Given the description of an element on the screen output the (x, y) to click on. 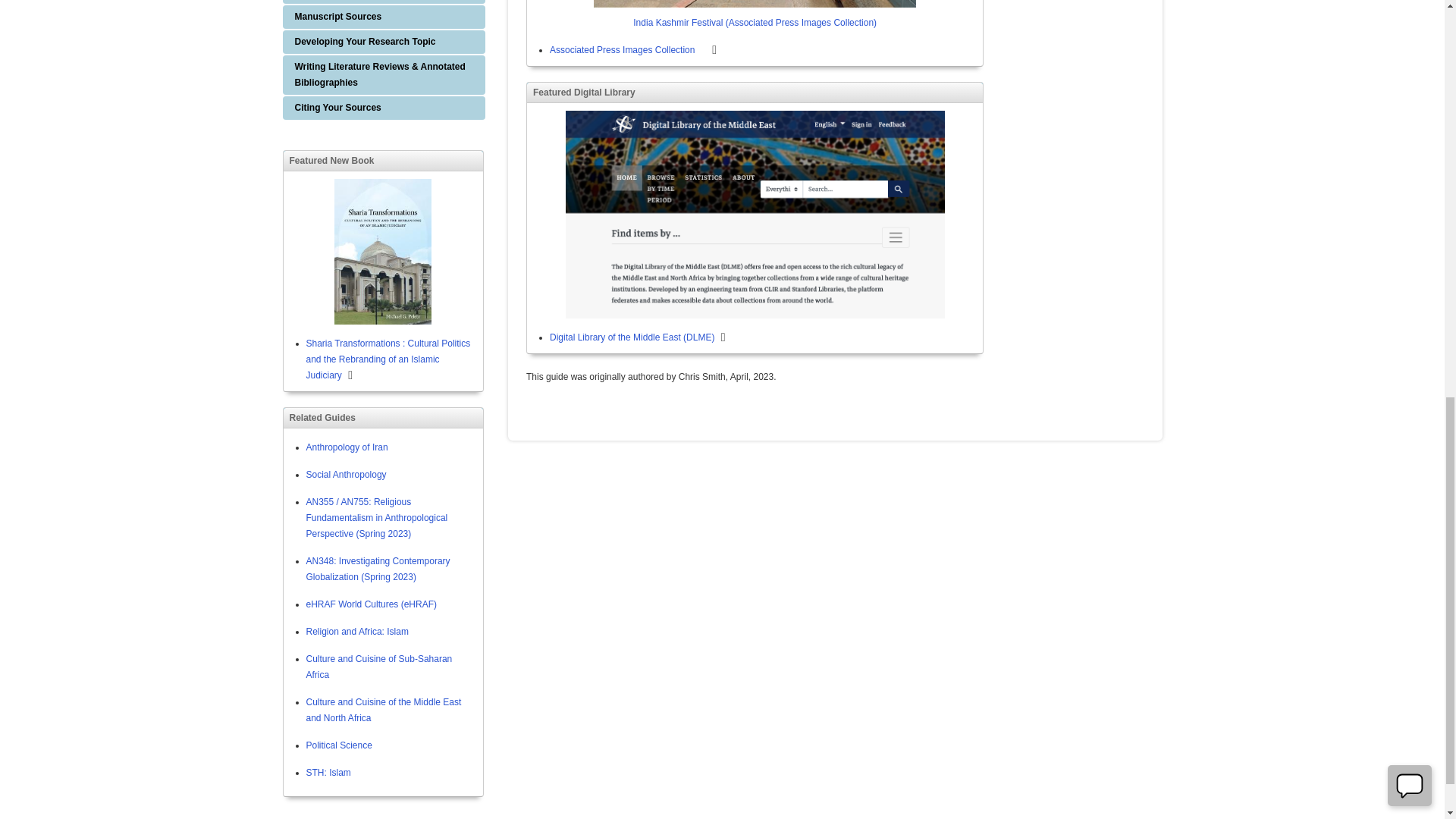
Citing Your Sources (383, 107)
Developing Your Research Topic (383, 42)
Ethnographic Research Methods (383, 2)
Manuscript Sources (383, 16)
